Given the description of an element on the screen output the (x, y) to click on. 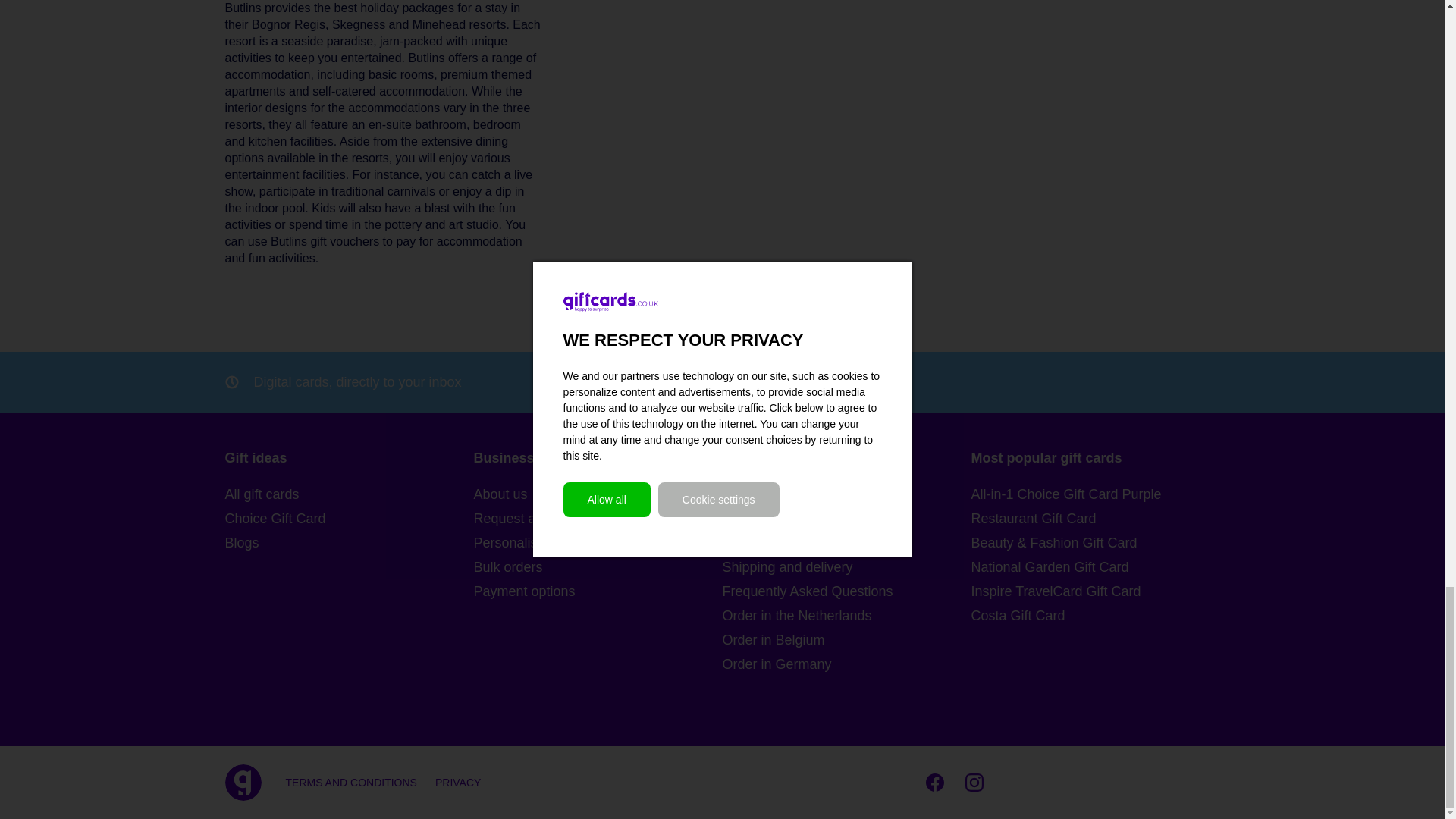
About us (597, 494)
Order in the Netherlands (846, 615)
Order in Germany (846, 664)
Request a quote (597, 518)
Redeem Choice Gift Card (846, 542)
Order gift card (846, 518)
National Garden Gift Card (1095, 566)
Choice Gift Card (348, 518)
Inspire TravelCard Gift Card (1095, 591)
Frequently Asked Questions (846, 591)
Order in Belgium (846, 639)
Contact us (846, 494)
All gift cards (348, 494)
Restaurant Gift Card (1095, 518)
Costa Gift Card (1095, 615)
